Given the description of an element on the screen output the (x, y) to click on. 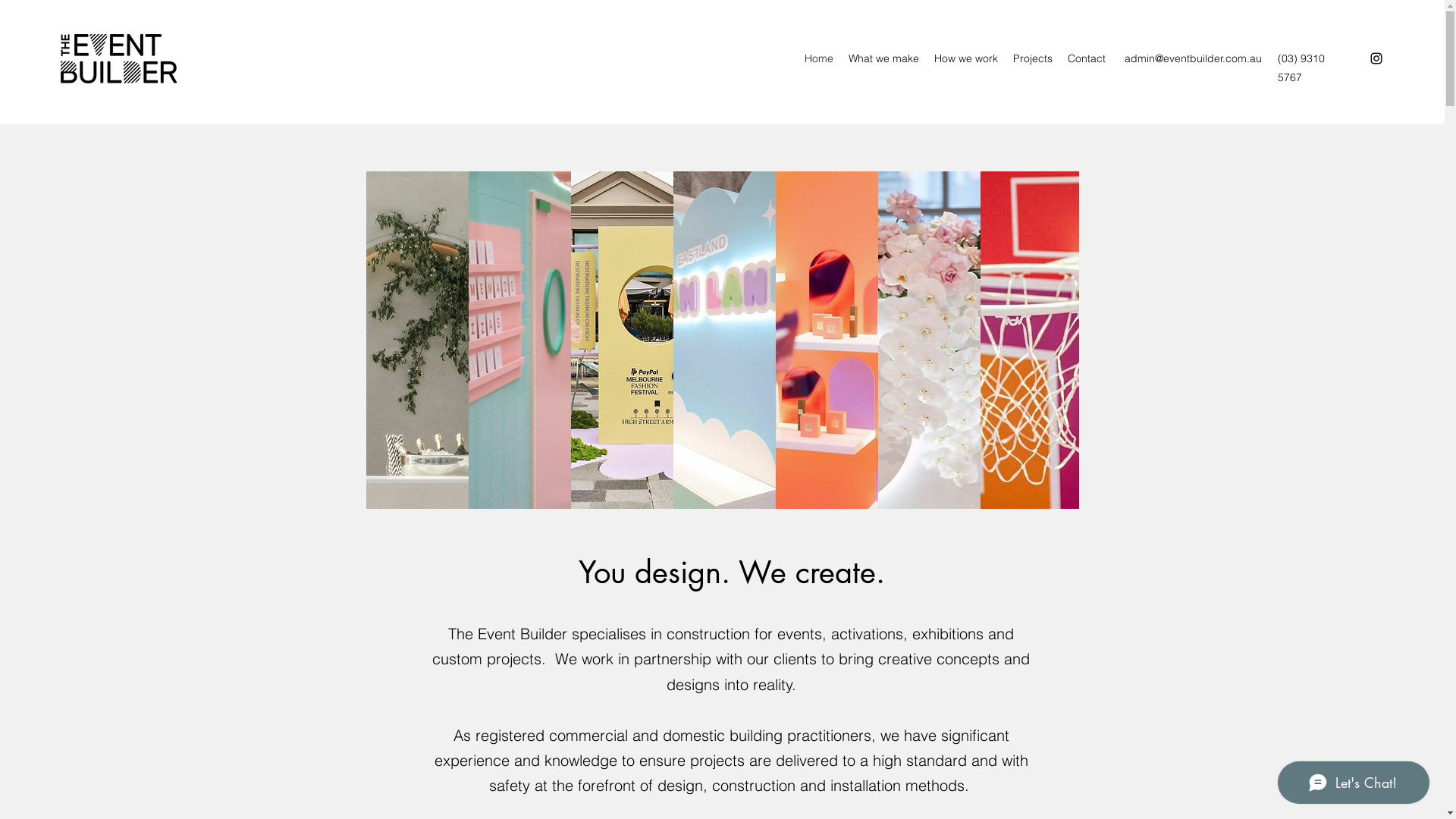
Projects Element type: text (1032, 58)
admin@eventbuilder.com.au Element type: text (1192, 58)
What we make Element type: text (883, 58)
How we work Element type: text (965, 58)
Contact Element type: text (1086, 58)
Home Element type: text (818, 58)
